Given the description of an element on the screen output the (x, y) to click on. 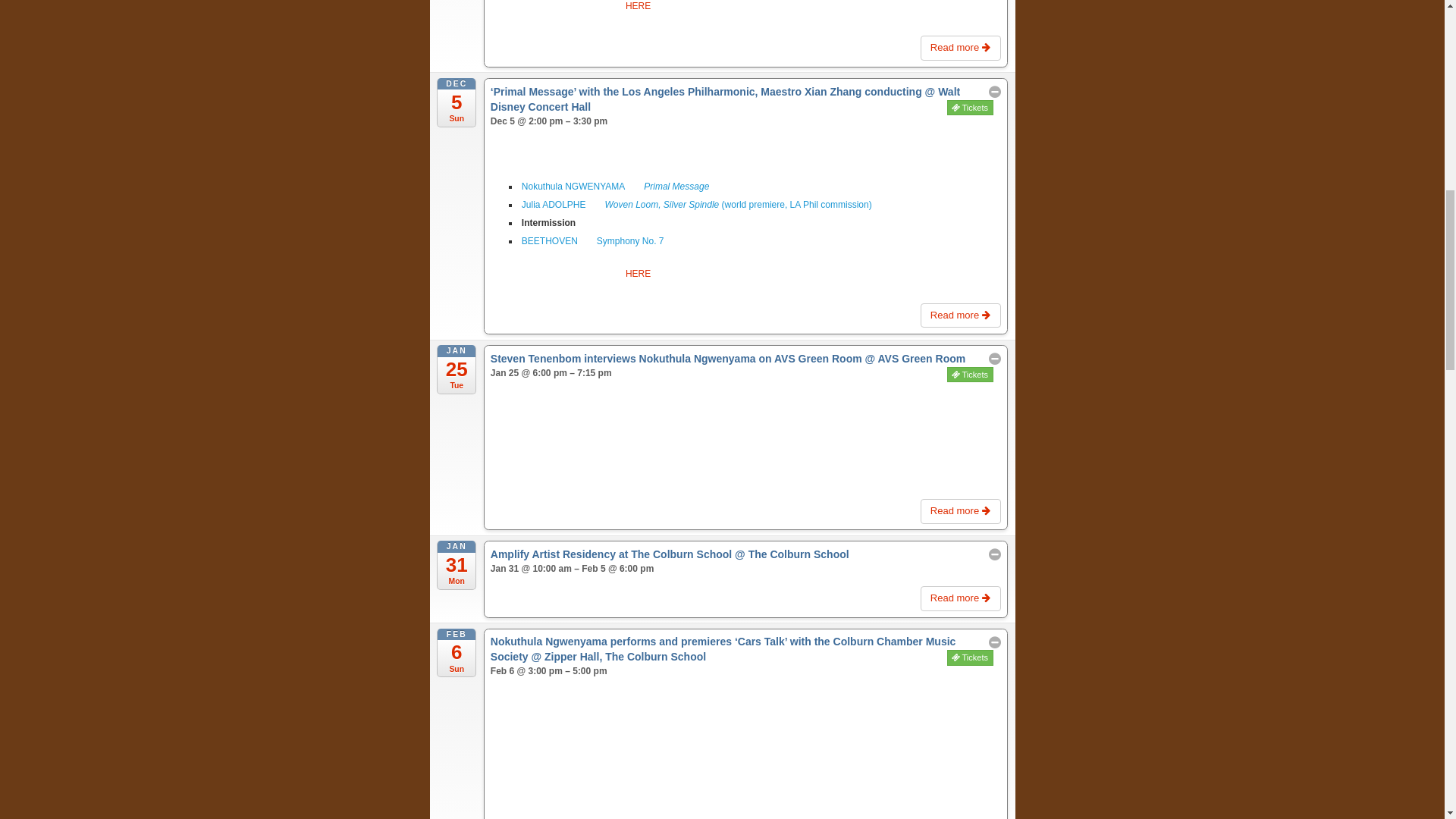
Tickets (969, 107)
HERE (638, 5)
Primal Message (676, 185)
Read more (960, 48)
Julia ADOLPHE (553, 204)
Nokuthula NGWENYAMA (572, 185)
